Given the description of an element on the screen output the (x, y) to click on. 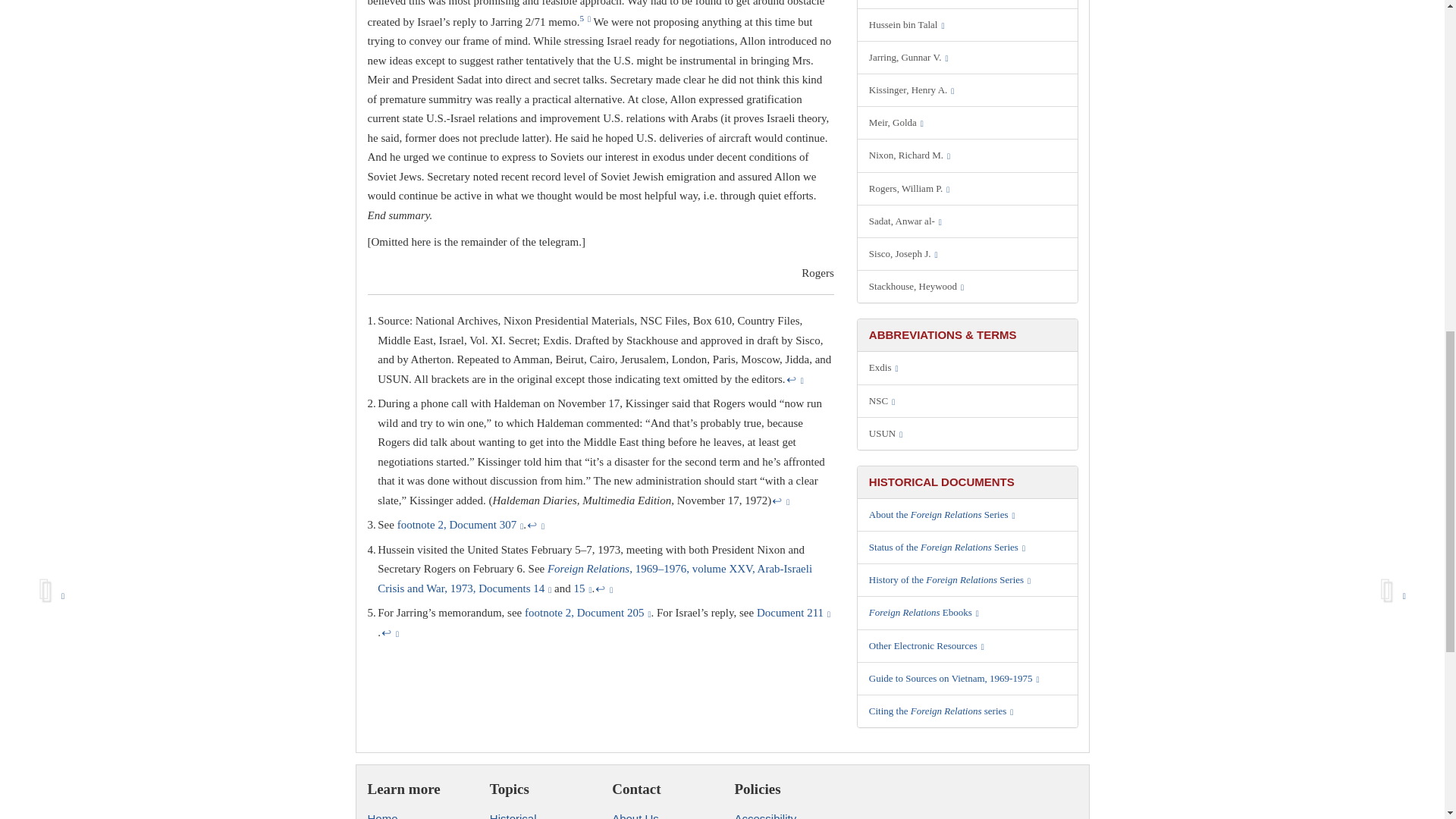
President of Egypt from October 1970 (967, 221)
Secretary of State from January 1969 until September 1973 (967, 188)
Exclusive Distribution (967, 368)
National Security Council (967, 400)
King of Jordan from 1953 (967, 24)
